Given the description of an element on the screen output the (x, y) to click on. 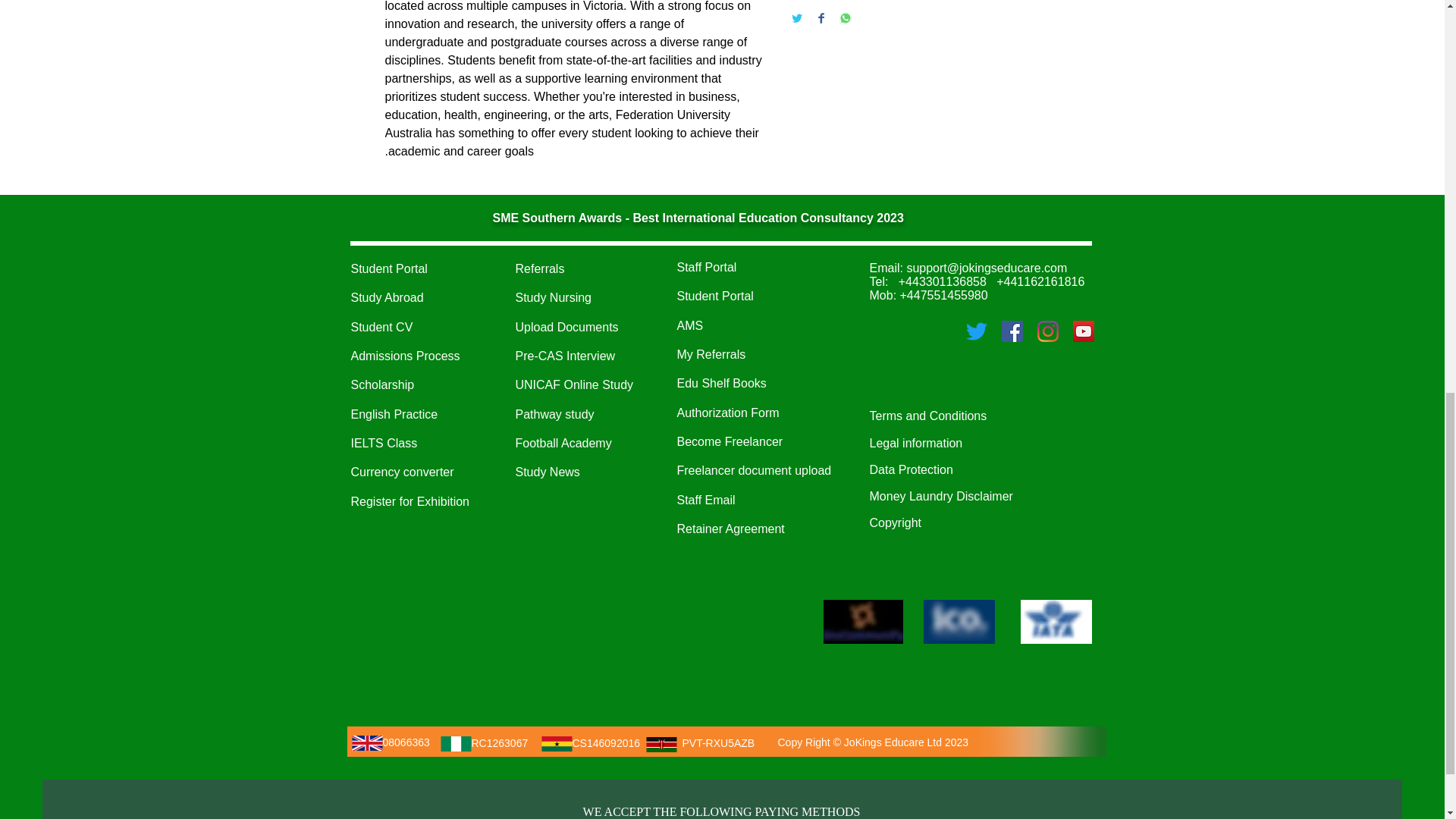
Communify logo-11 2.jpg (863, 621)
